Given the description of an element on the screen output the (x, y) to click on. 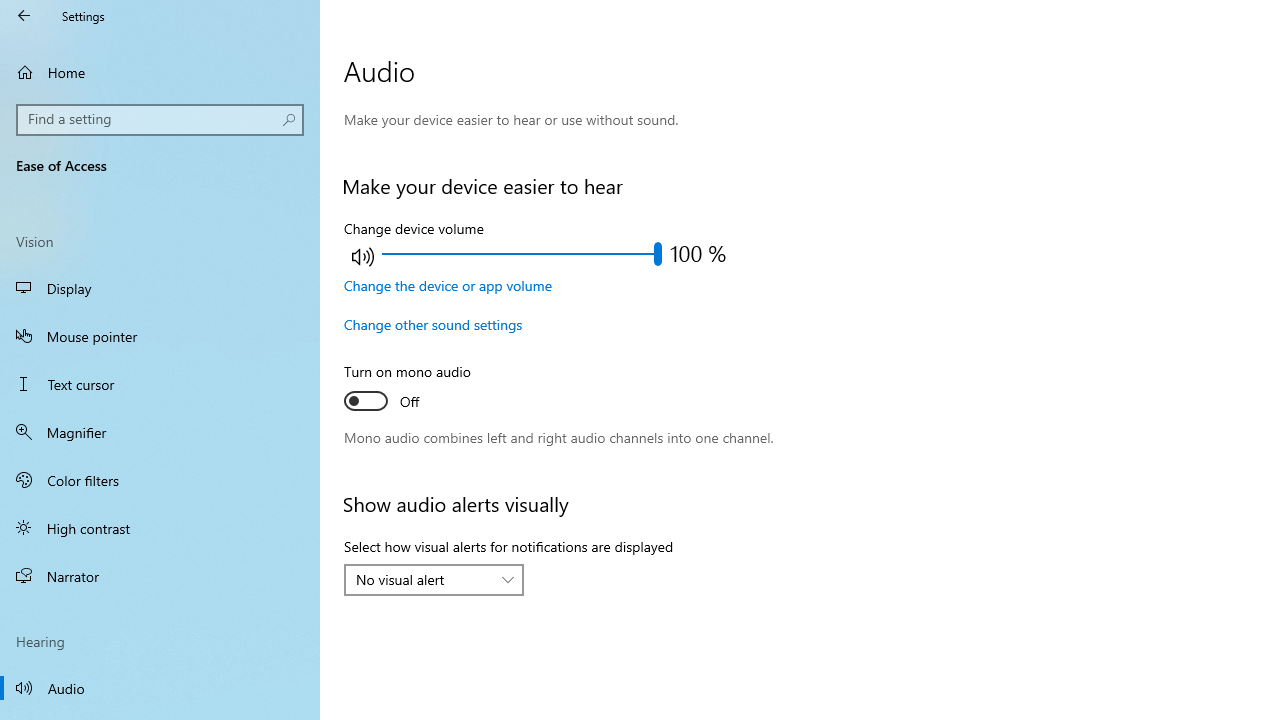
Search box, Find a setting (160, 119)
Turn on mono audio (417, 389)
No visual alert (423, 579)
Display (160, 287)
Select how visual alerts for notifications are displayed (433, 579)
Change the device or app volume (448, 285)
High contrast (160, 527)
Mouse pointer (160, 335)
Text cursor (160, 384)
Change device volume (521, 254)
Color filters (160, 479)
Audio (160, 687)
Narrator (160, 575)
